Given the description of an element on the screen output the (x, y) to click on. 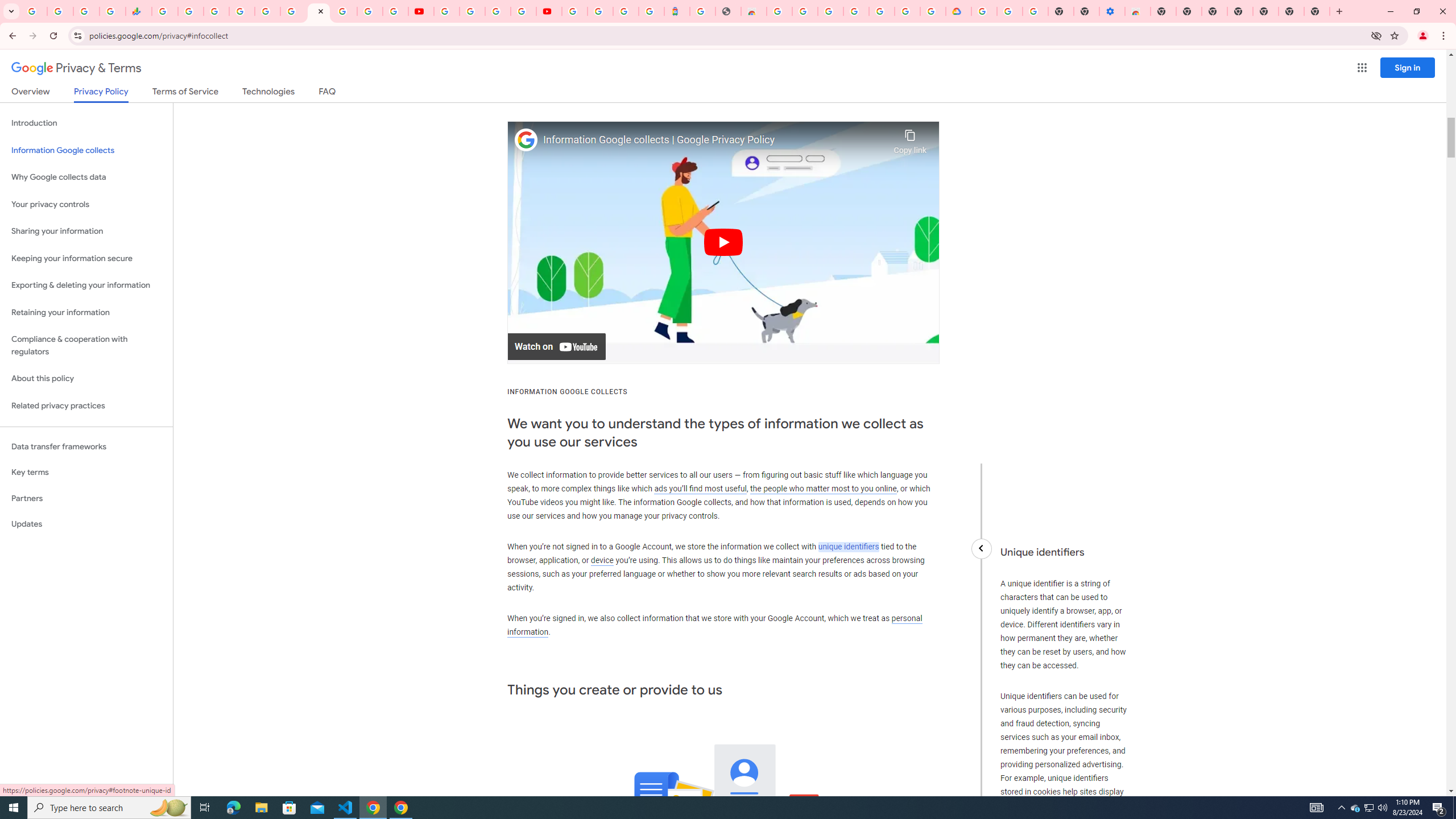
unique identifiers (848, 546)
About this policy (86, 379)
YouTube (446, 11)
Chrome Web Store - Household (753, 11)
personal information (714, 625)
Content Creator Programs & Opportunities - YouTube Creators (548, 11)
Sign in - Google Accounts (830, 11)
the people who matter most to you online (822, 488)
